Given the description of an element on the screen output the (x, y) to click on. 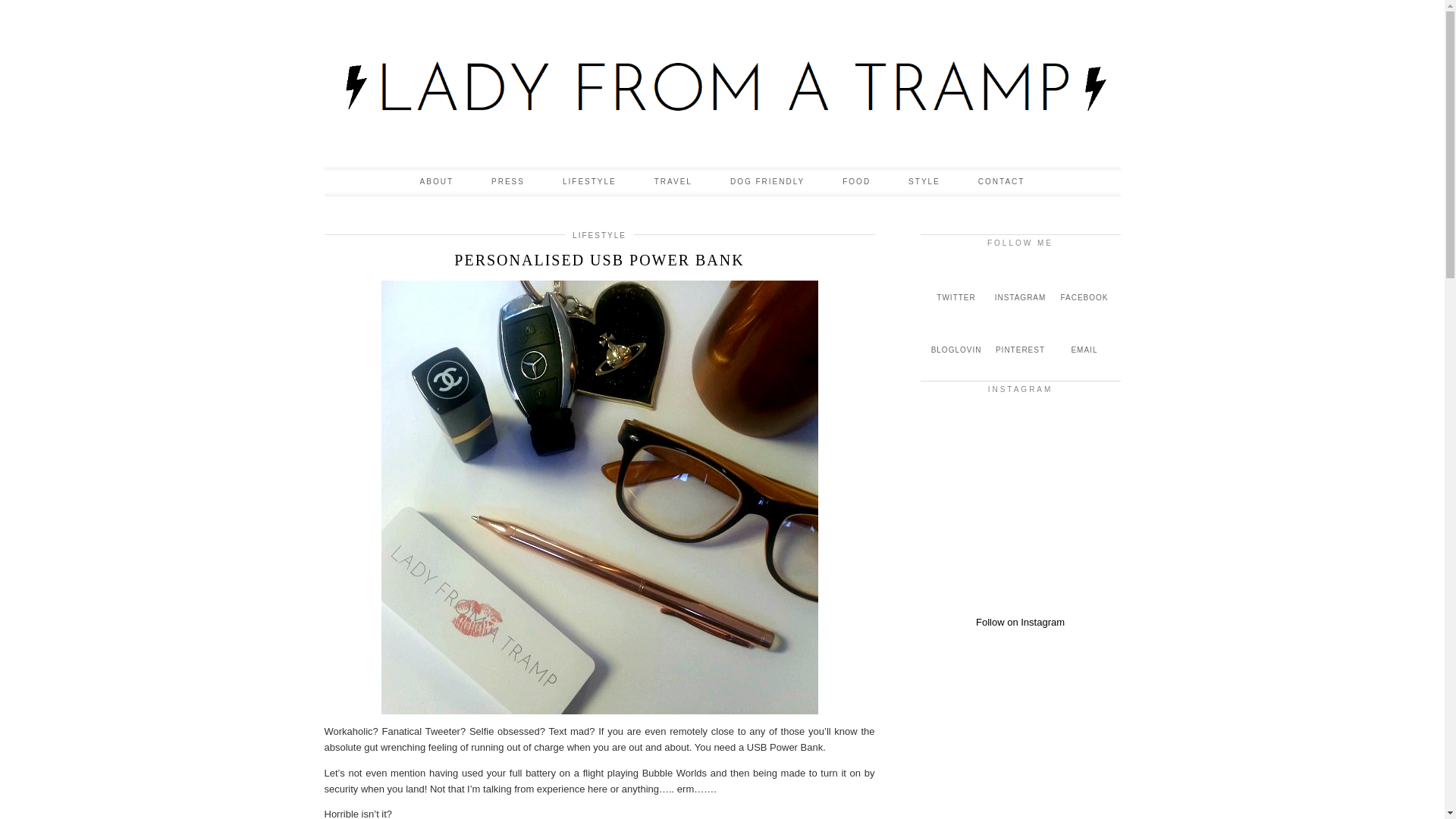
facebook (1084, 284)
LIFESTYLE (599, 234)
instagram (1019, 284)
STYLE (924, 181)
twitter (956, 284)
LIFESTYLE (588, 181)
TRAVEL (672, 181)
FOOD (856, 181)
Lady From A Tramp (722, 87)
PRESS (507, 181)
DOG FRIENDLY (767, 181)
ABOUT (436, 181)
bloglovin (956, 336)
pinterest (1019, 336)
CONTACT (1001, 181)
